Given the description of an element on the screen output the (x, y) to click on. 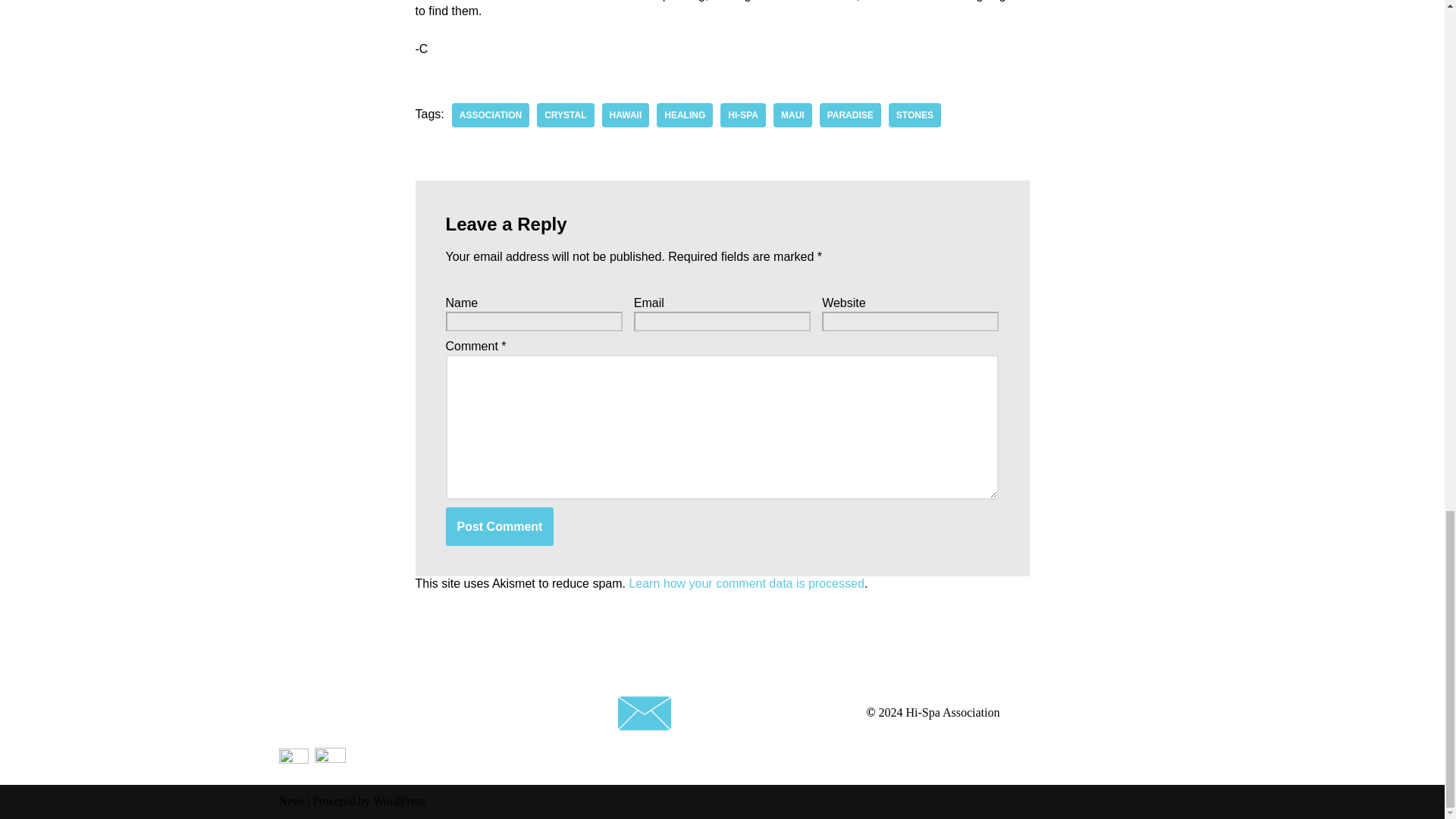
crystal (565, 115)
HEALING (684, 115)
Post Comment (499, 526)
healing (684, 115)
paradise (849, 115)
CRYSTAL (565, 115)
association (490, 115)
ASSOCIATION (490, 115)
hi-spa (742, 115)
MAUI (792, 115)
